Given the description of an element on the screen output the (x, y) to click on. 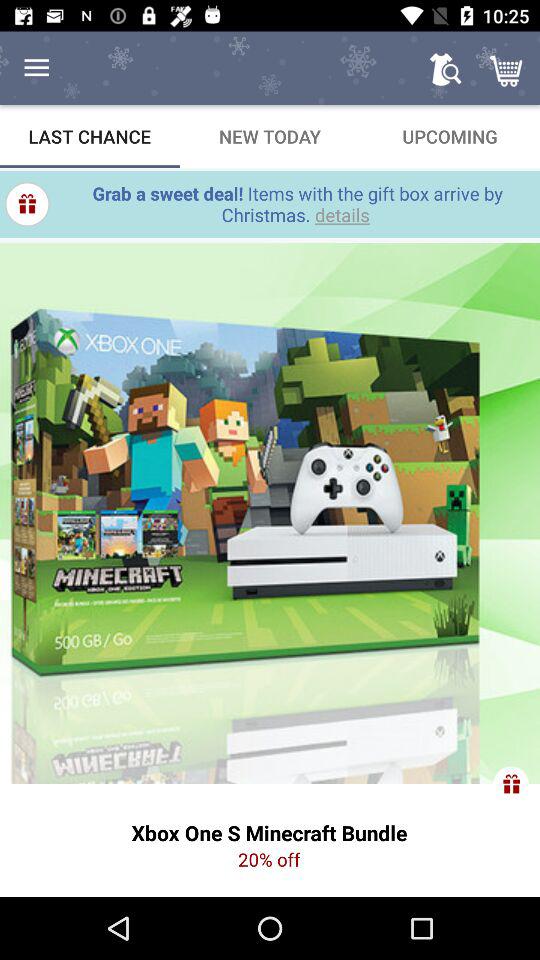
click the gift icon (511, 784)
click on the search icon (445, 68)
